Given the description of an element on the screen output the (x, y) to click on. 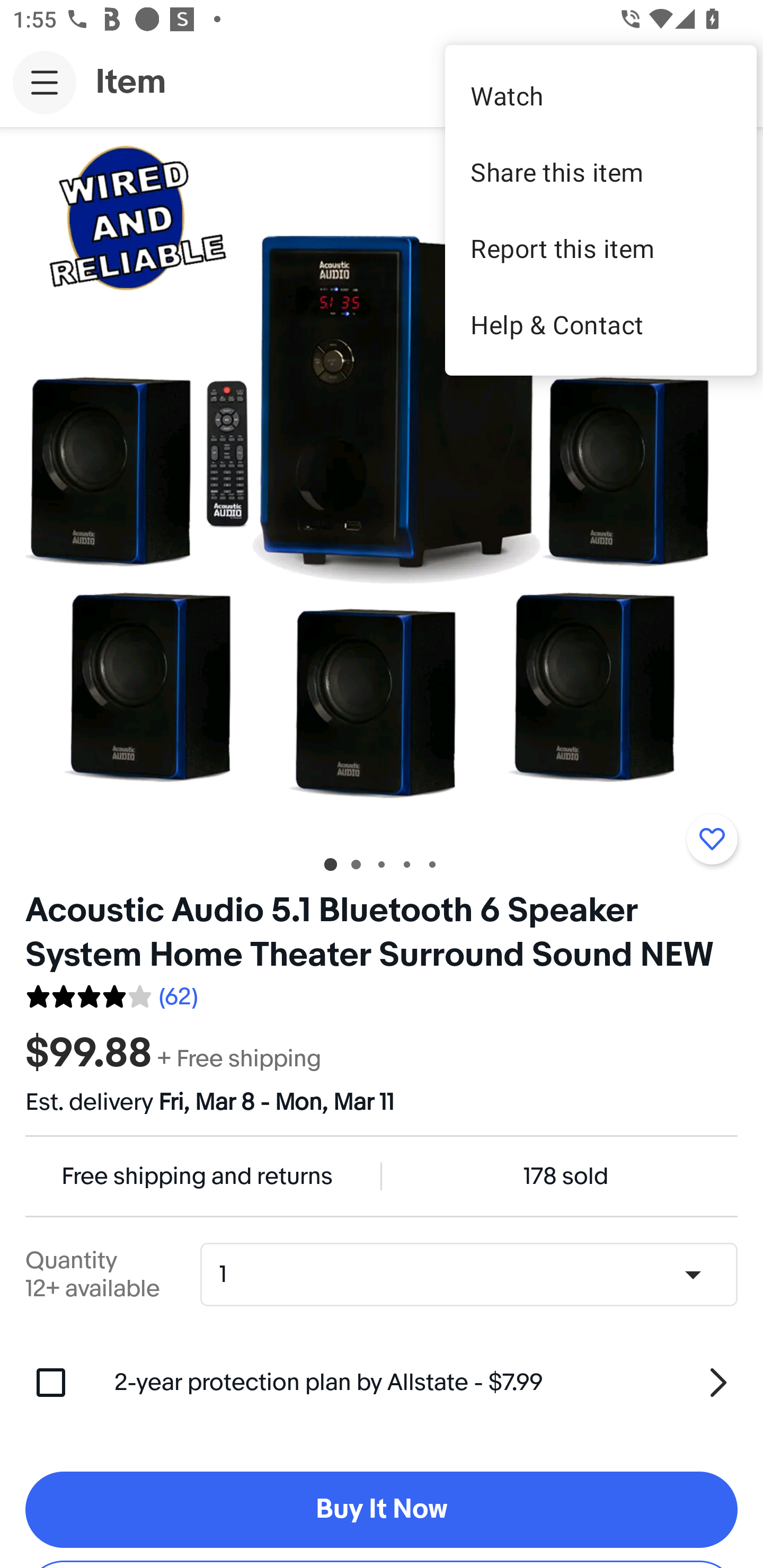
Watch (600, 95)
Share this item (600, 171)
Report this item (600, 248)
Help & Contact (600, 324)
